Given the description of an element on the screen output the (x, y) to click on. 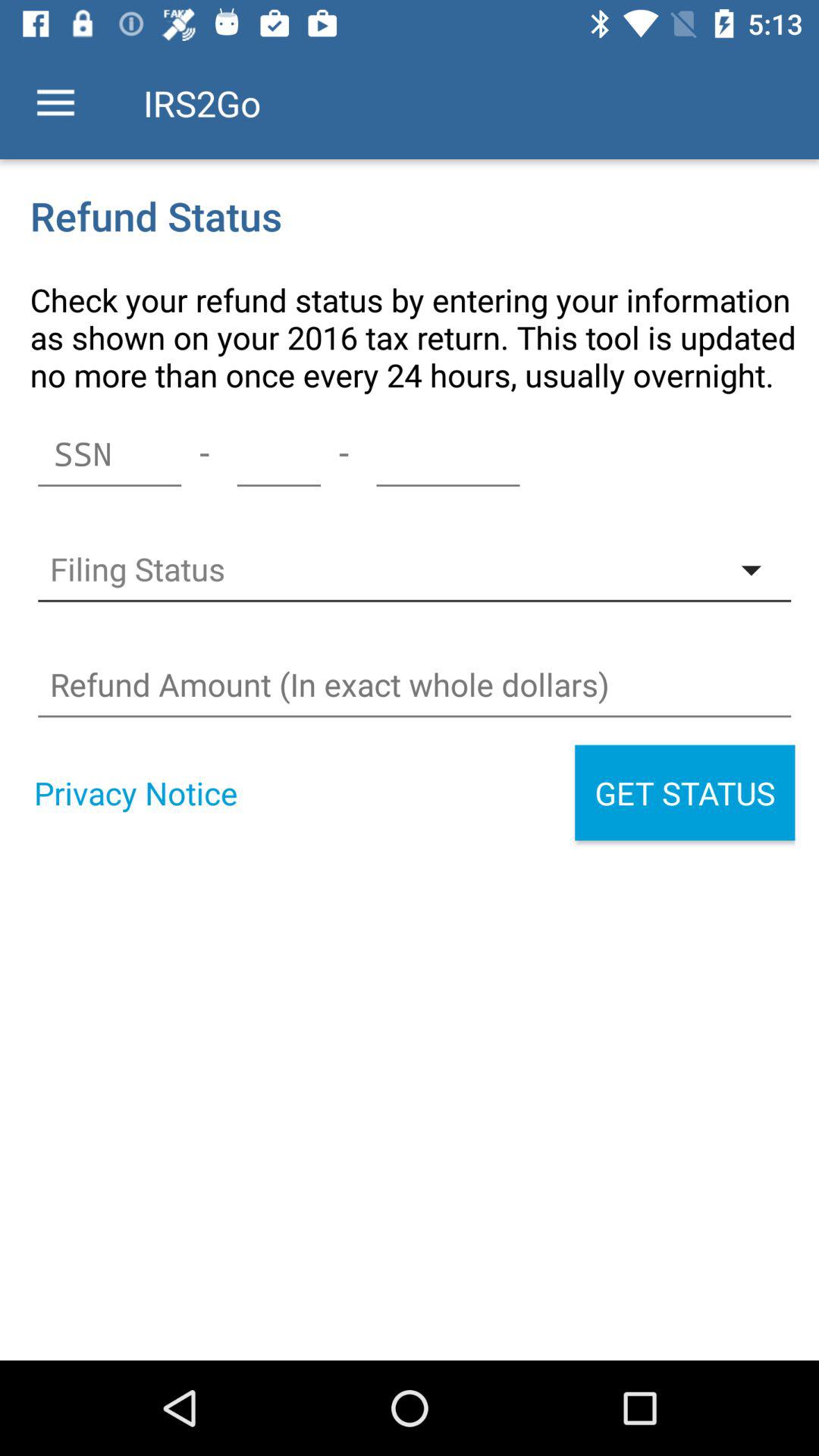
refund amount (414, 685)
